Given the description of an element on the screen output the (x, y) to click on. 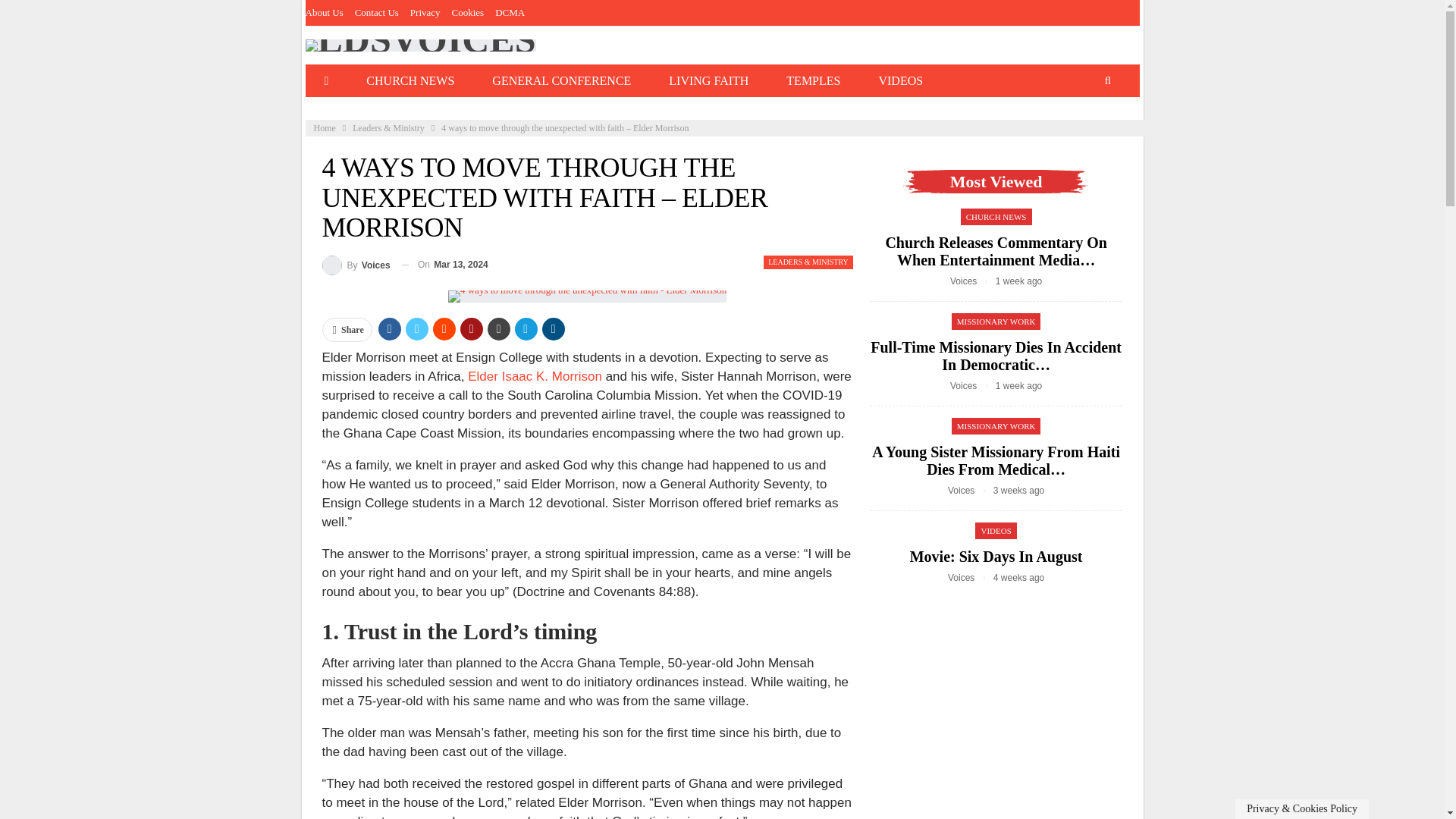
Browse Author Articles (972, 281)
TEMPLES (813, 80)
Browse Author Articles (969, 577)
DCMA (509, 12)
By Voices (355, 264)
Elder Isaac K. Morrison (534, 376)
CHURCH NEWS (410, 80)
Cookies (467, 12)
Privacy (425, 12)
Browse Author Articles (355, 264)
